Given the description of an element on the screen output the (x, y) to click on. 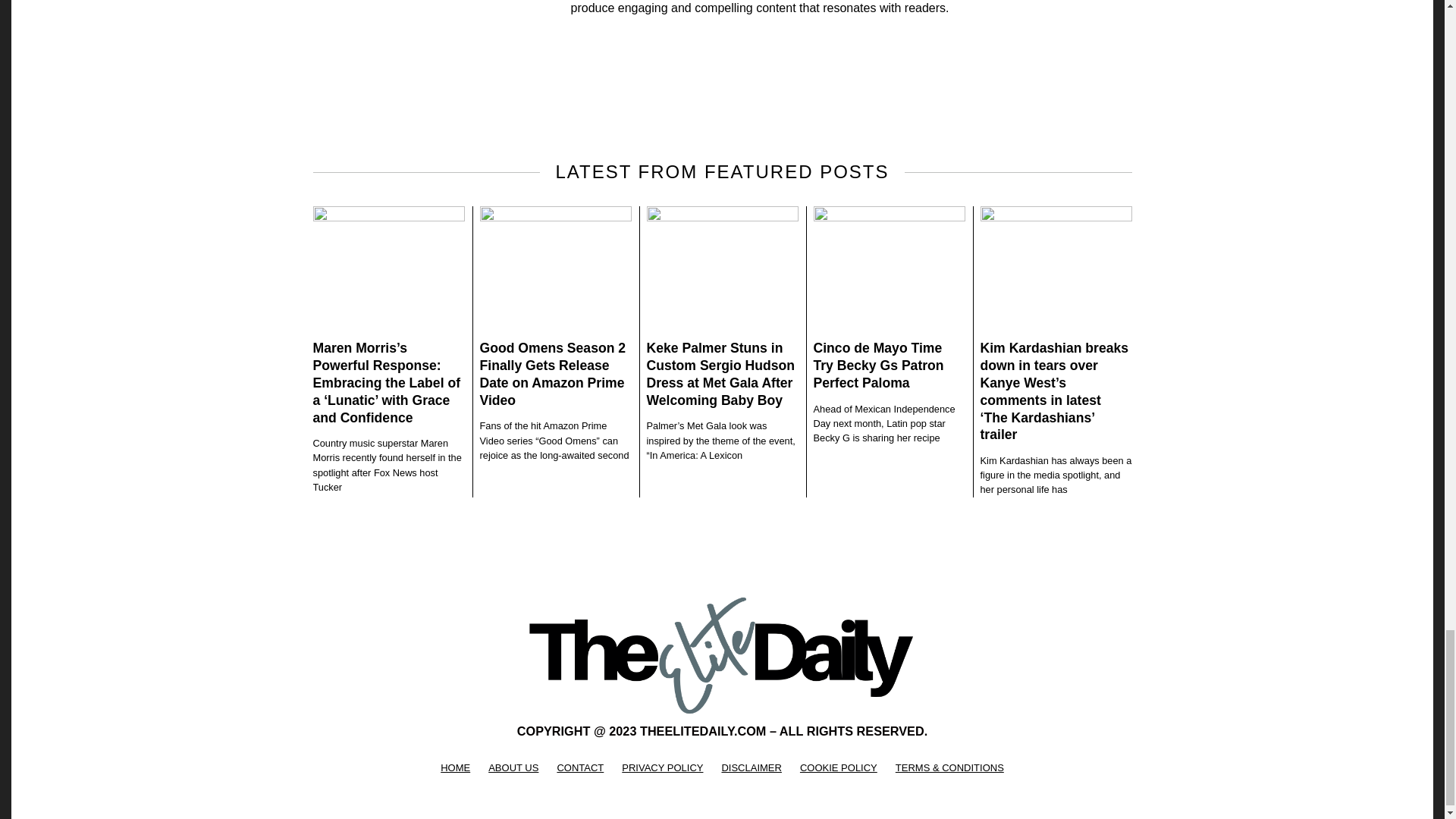
DISCLAIMER (750, 767)
Cinco de Mayo Time Try Becky Gs Patron Perfect Paloma (877, 365)
ABOUT US (513, 767)
PRIVACY POLICY (661, 767)
CONTACT (579, 767)
HOME (454, 767)
